Given the description of an element on the screen output the (x, y) to click on. 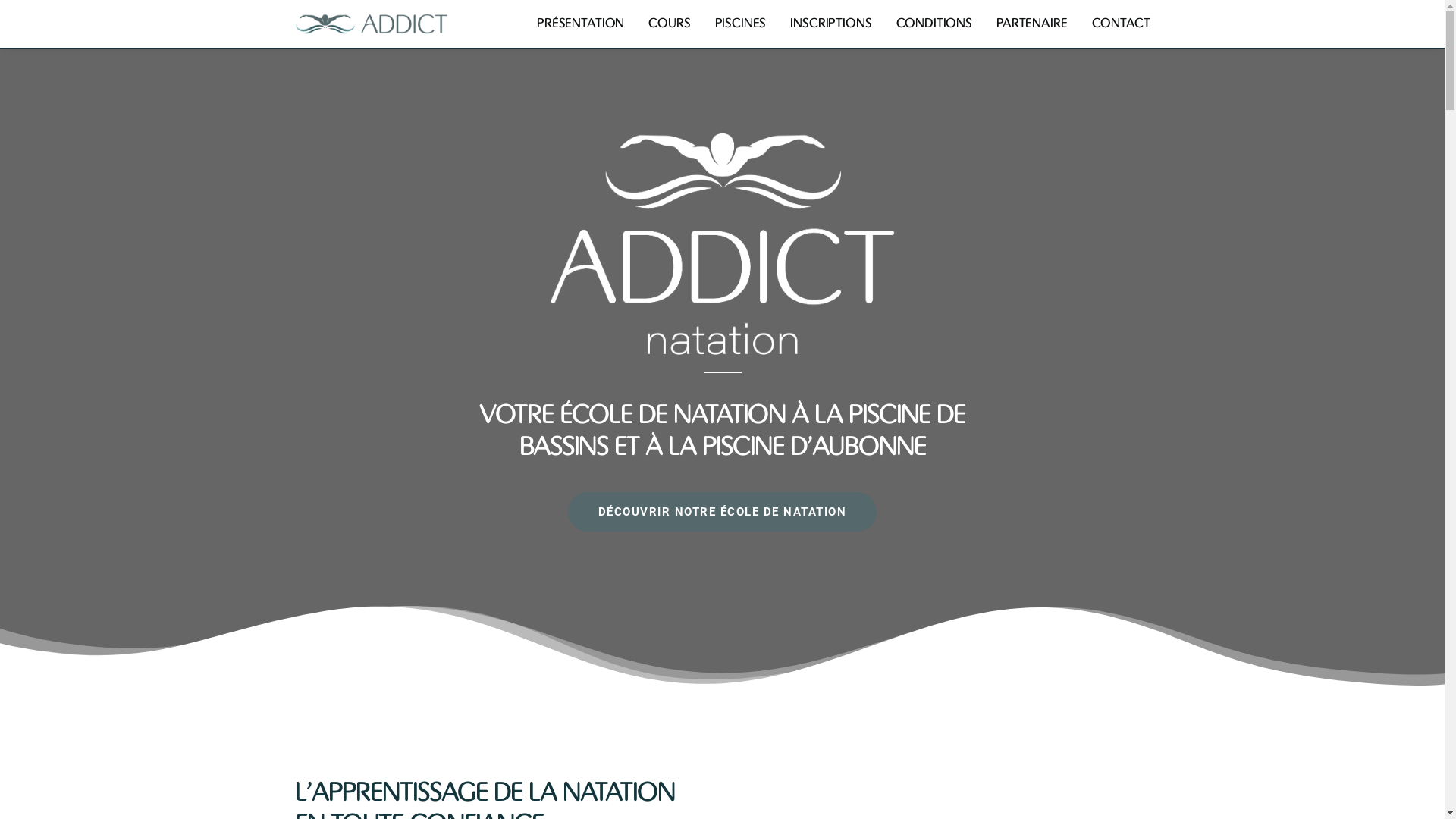
PISCINES Element type: text (740, 23)
COURS Element type: text (668, 23)
CONDITIONS Element type: text (934, 23)
PARTENAIRE Element type: text (1031, 23)
INSCRIPTIONS Element type: text (830, 23)
CONTACT Element type: text (1115, 23)
